Given the description of an element on the screen output the (x, y) to click on. 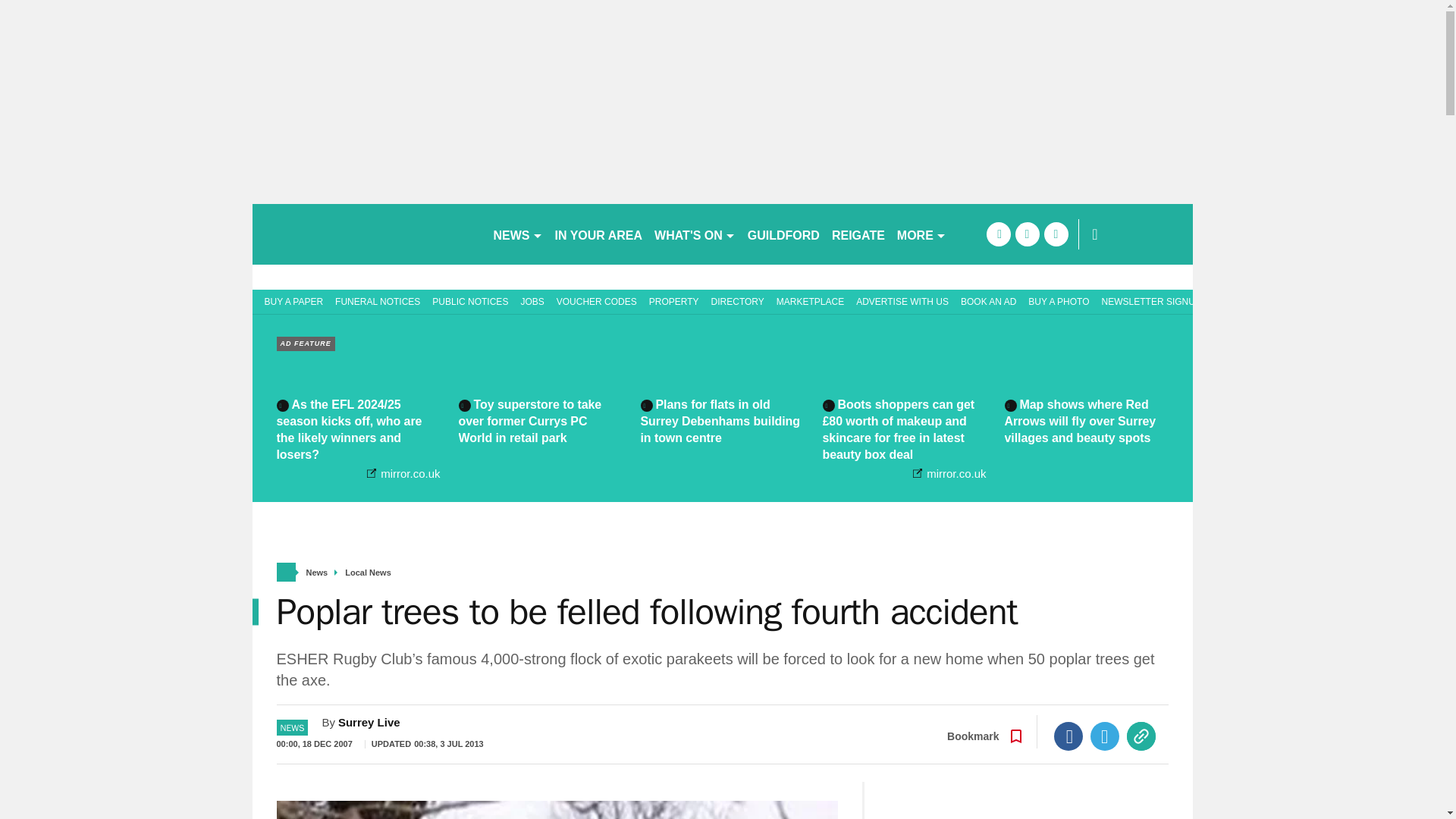
REIGATE (858, 233)
instagram (1055, 233)
JOBS (531, 300)
GUILDFORD (783, 233)
IN YOUR AREA (598, 233)
MORE (921, 233)
Facebook (1068, 736)
Twitter (1104, 736)
NEWS (517, 233)
getsurrey (365, 233)
